Given the description of an element on the screen output the (x, y) to click on. 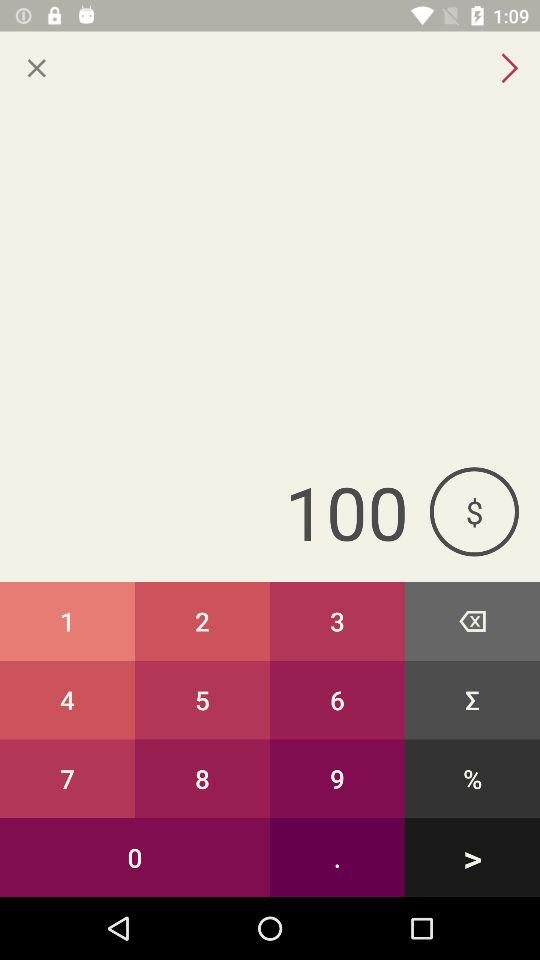
press the item to the left of the 9 (135, 857)
